Given the description of an element on the screen output the (x, y) to click on. 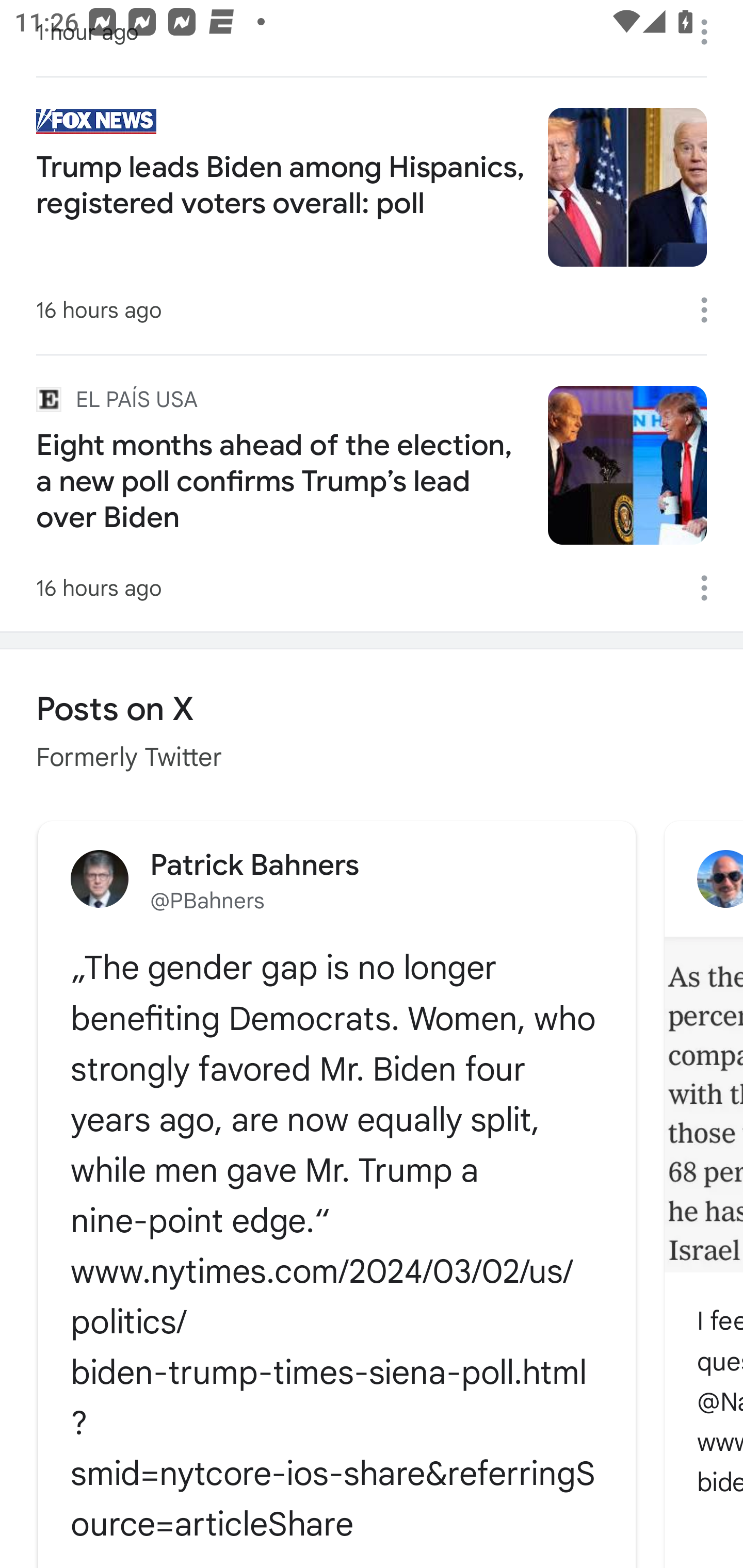
More options (711, 32)
More options (711, 309)
More options (711, 587)
